Given the description of an element on the screen output the (x, y) to click on. 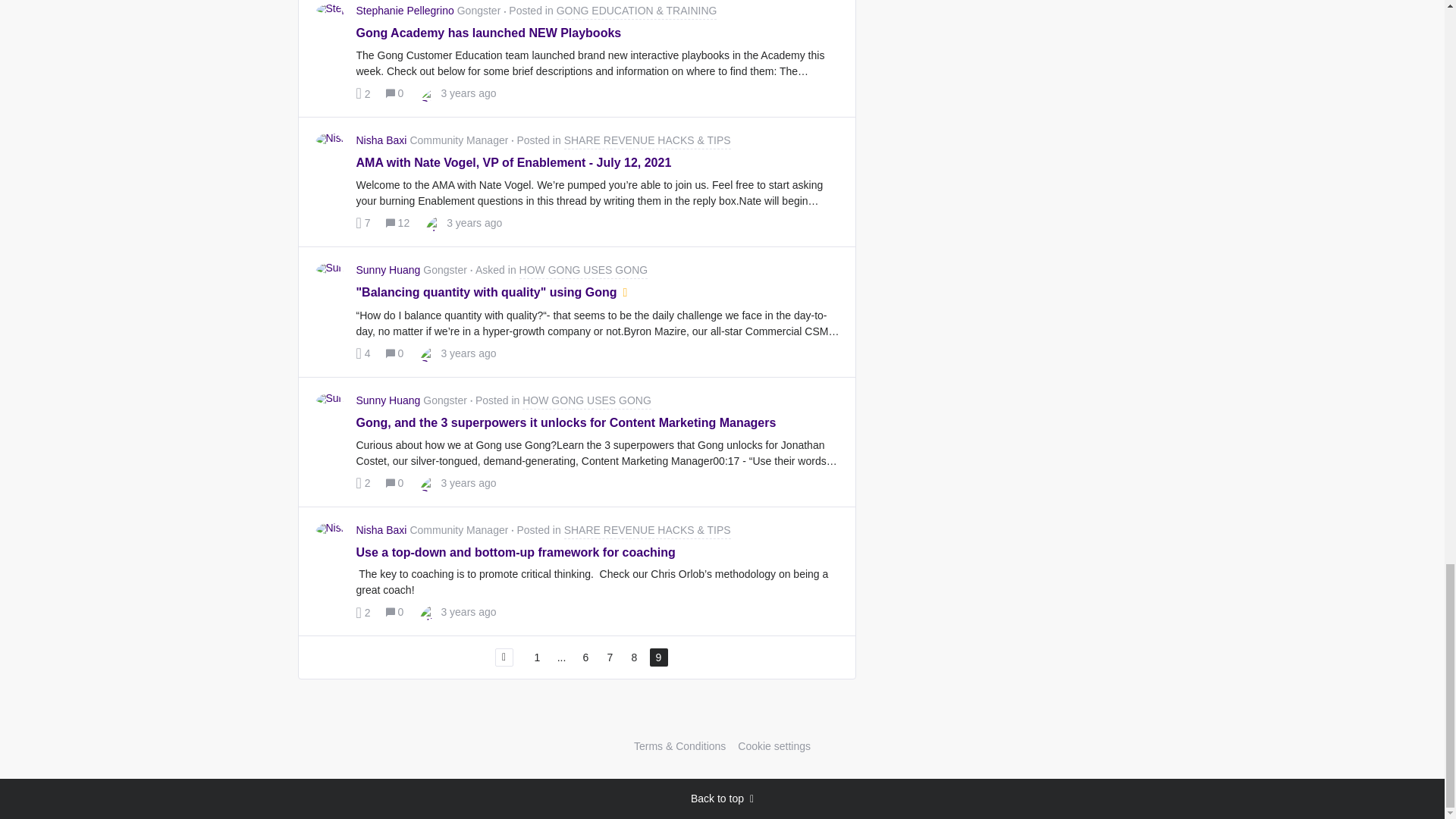
Back to top (722, 798)
